Given the description of an element on the screen output the (x, y) to click on. 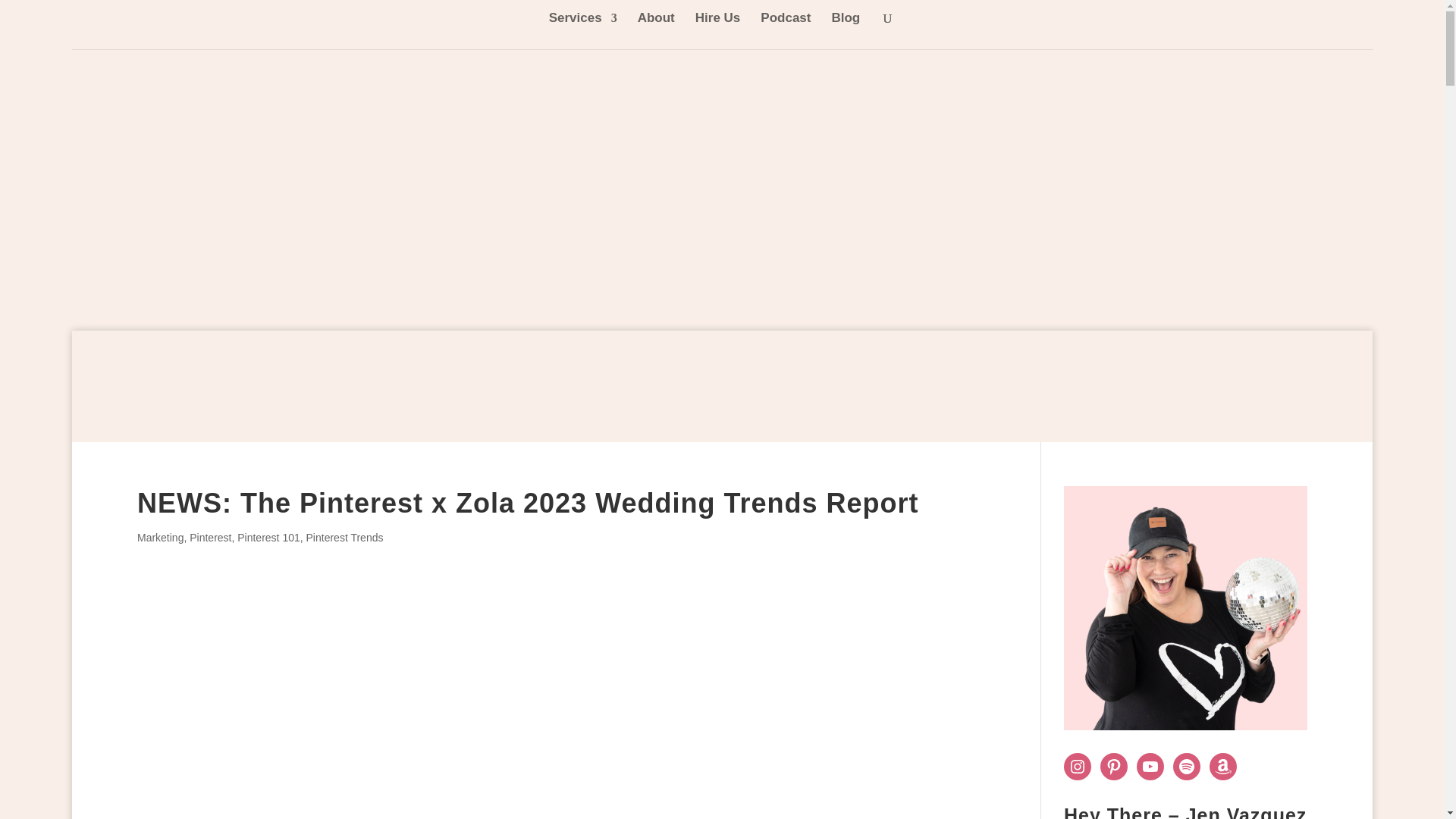
Marketing (159, 537)
Podcast (785, 31)
Pinterest Trends (344, 537)
Pinterest 101 (268, 537)
Services (582, 31)
NEWS: The Pinterest x Zola 2023 Wedding Trends Report (527, 502)
Hire Us (718, 31)
Pinterest (210, 537)
About (656, 31)
